Given the description of an element on the screen output the (x, y) to click on. 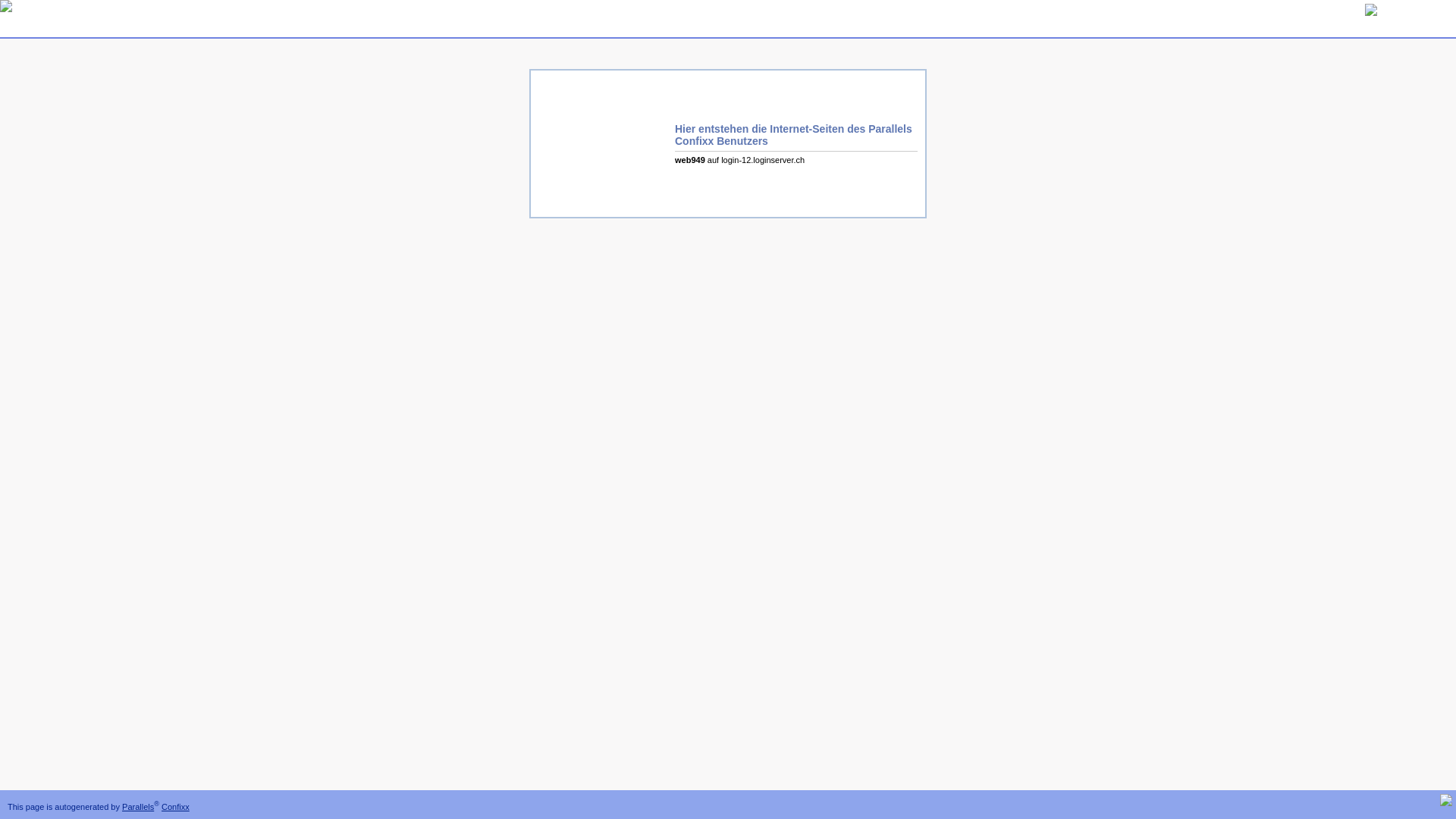
Confixx Element type: text (175, 806)
Parallels Element type: text (137, 806)
